Given the description of an element on the screen output the (x, y) to click on. 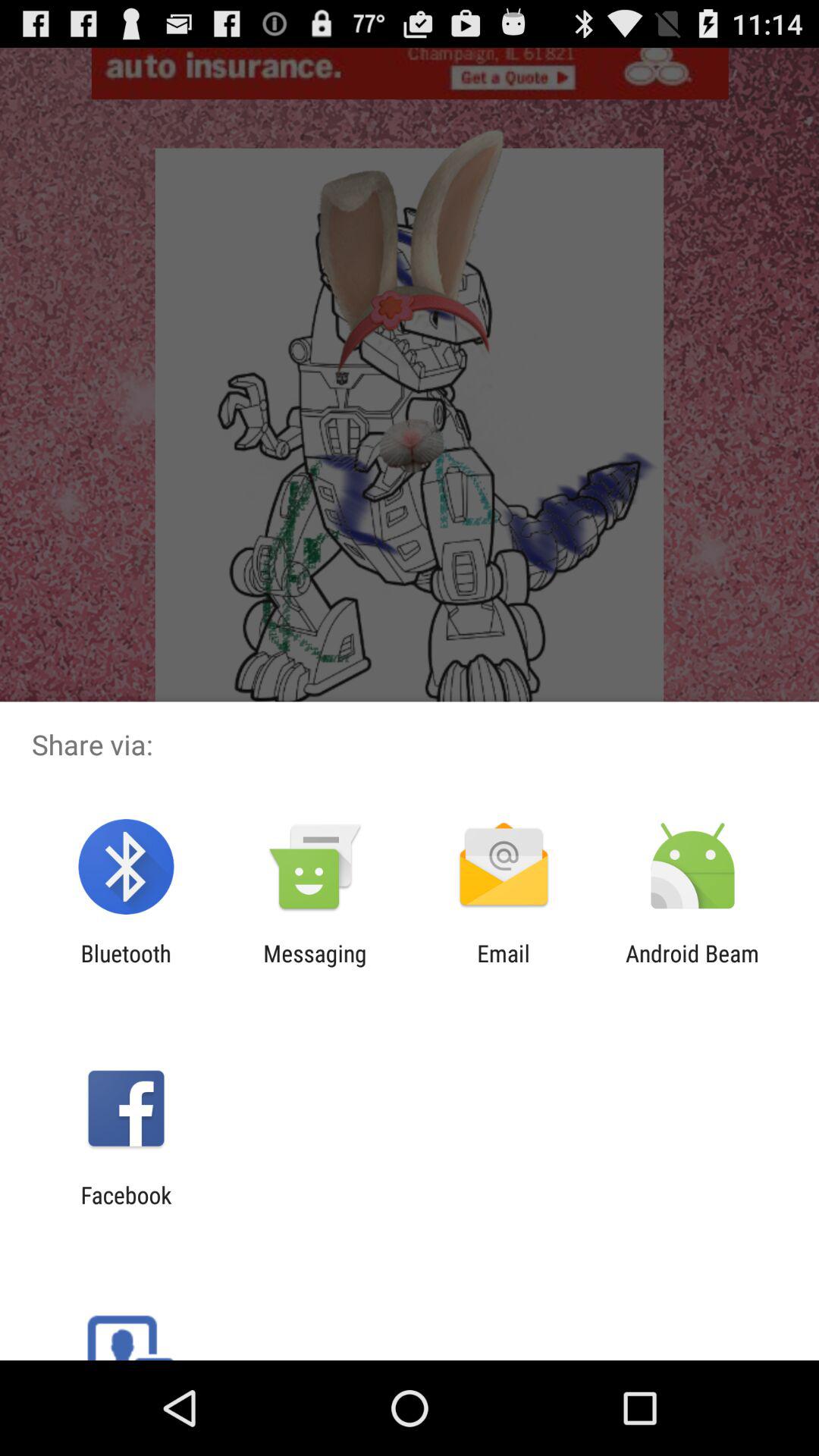
tap item next to the email (692, 966)
